Given the description of an element on the screen output the (x, y) to click on. 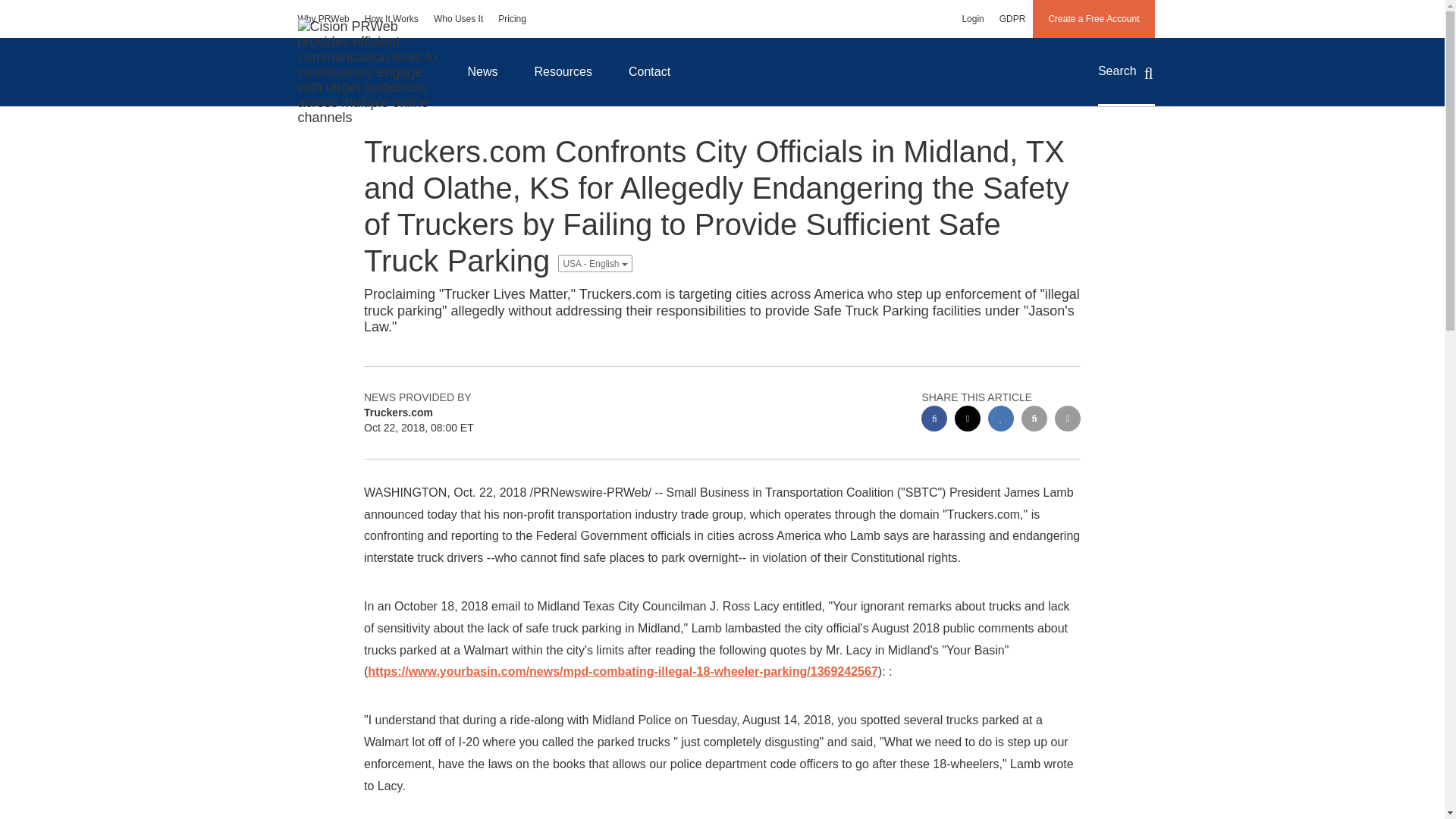
Contact (649, 71)
Create a Free Account (1093, 18)
Pricing (512, 18)
Why PRWeb (322, 18)
News (481, 71)
Resources (563, 71)
How It Works (391, 18)
GDPR (1012, 18)
Login (972, 18)
